Given the description of an element on the screen output the (x, y) to click on. 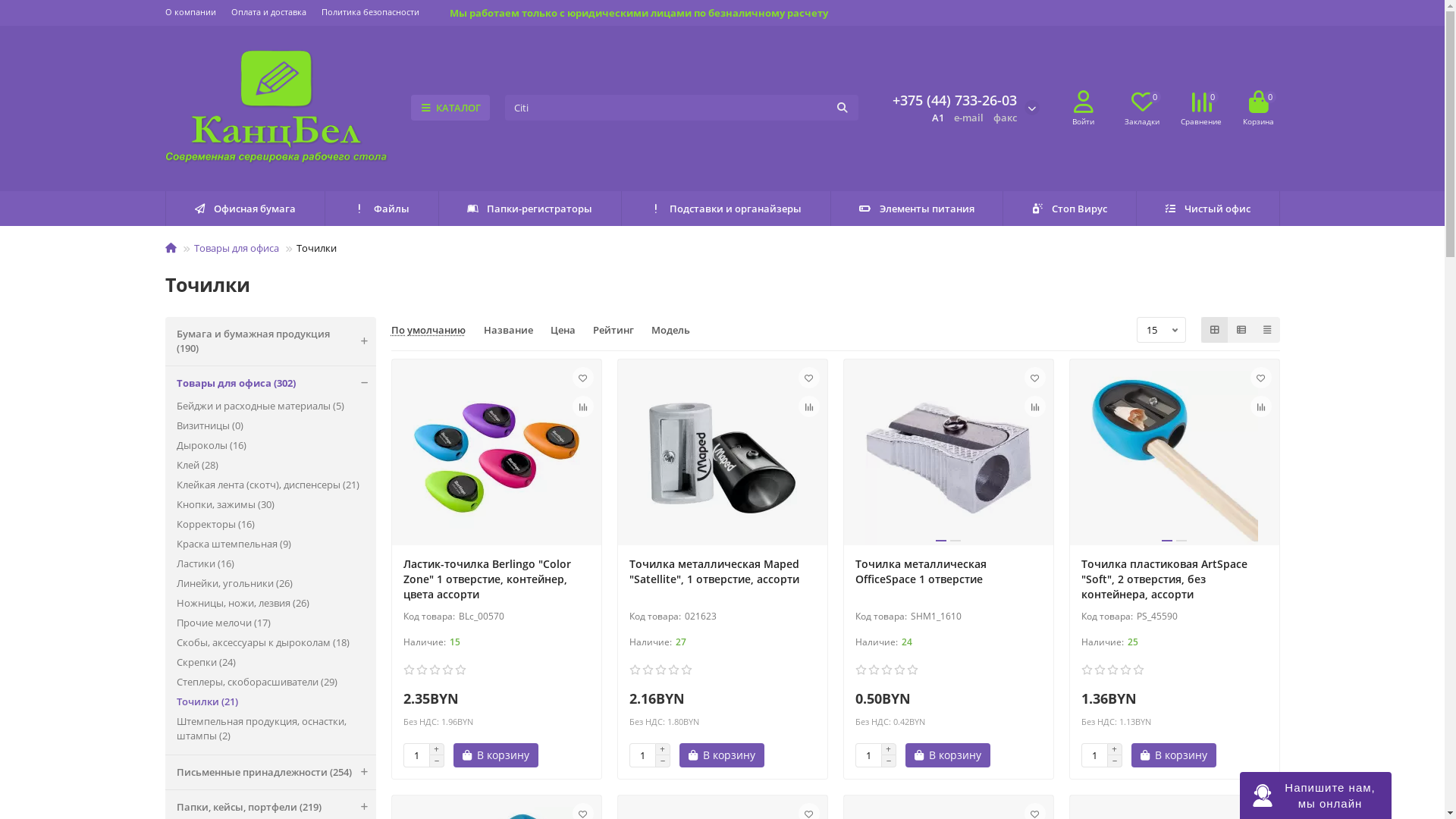
+375 (44) 733-26-03 Element type: text (953, 100)
0 Element type: text (1257, 102)
